Given the description of an element on the screen output the (x, y) to click on. 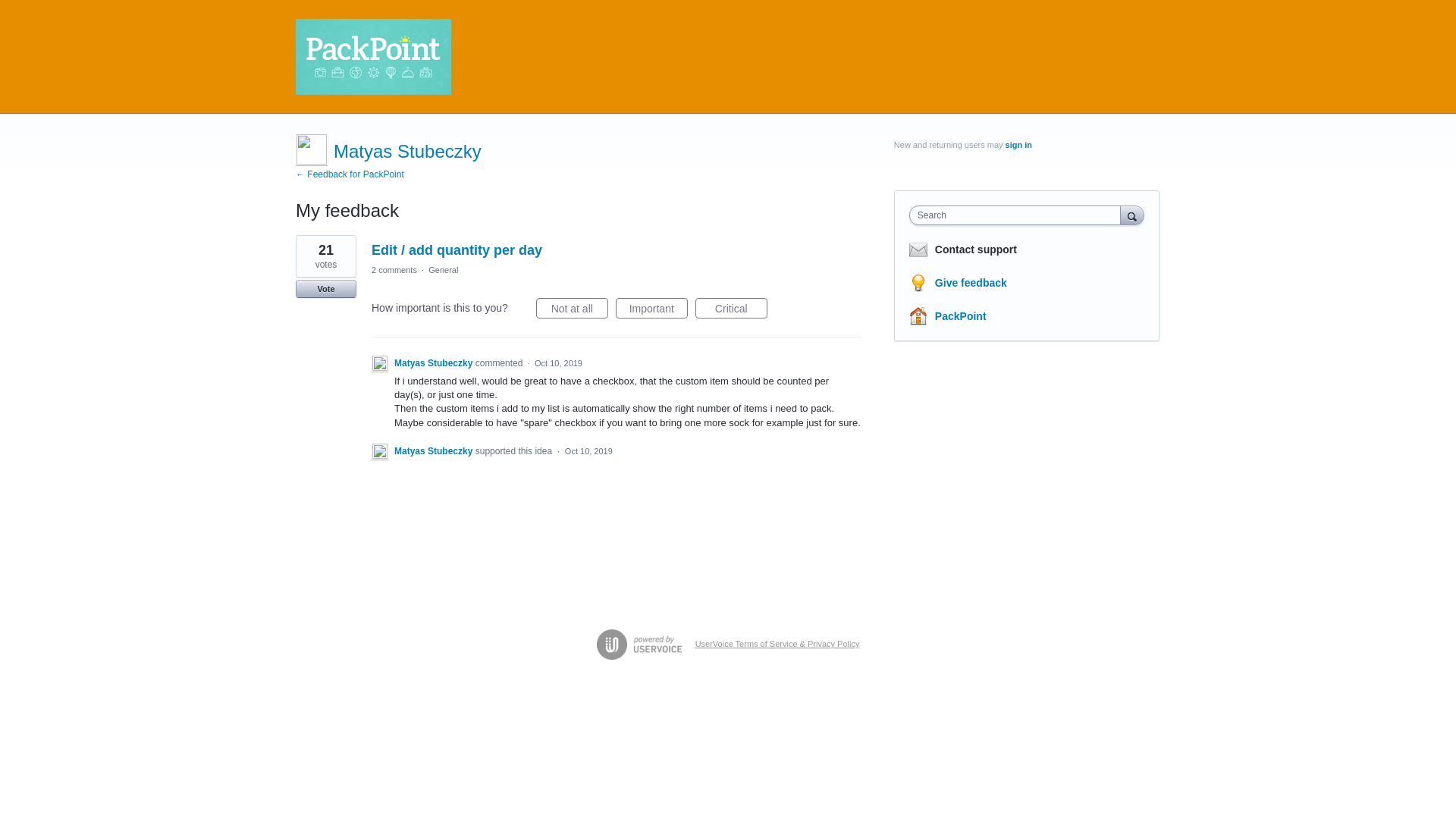
sign in (1019, 144)
Important (651, 308)
Vote (325, 289)
General (443, 269)
Matyas Stubeczky (407, 150)
Critical (731, 308)
Matyas Stubeczky (435, 450)
Feedback for PackPoint (349, 173)
Feedback for PackPoint (373, 56)
2 comments (393, 269)
Not at all (571, 308)
Matyas Stubeczky (435, 362)
